Given the description of an element on the screen output the (x, y) to click on. 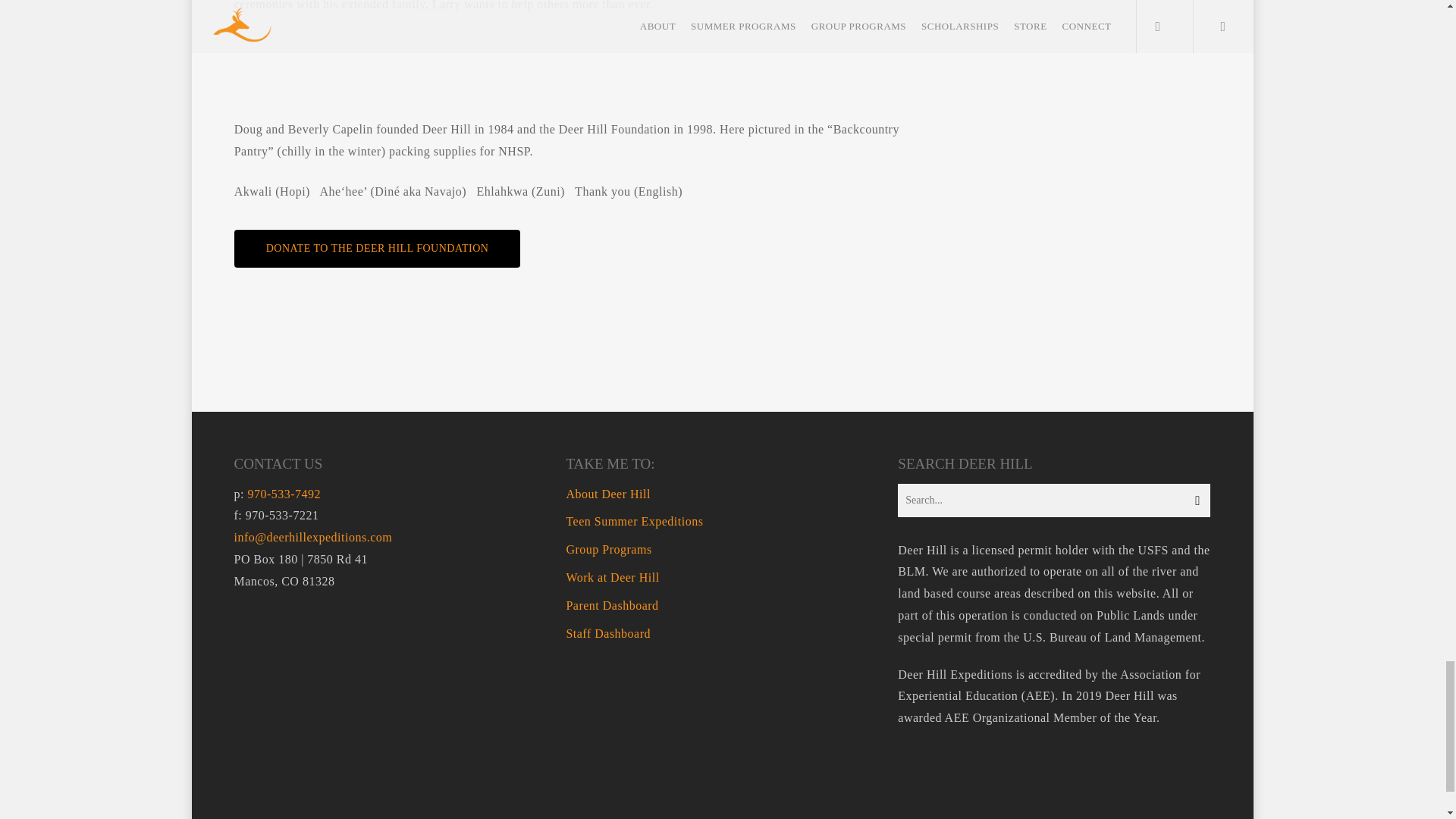
Search for: (1053, 500)
